Given the description of an element on the screen output the (x, y) to click on. 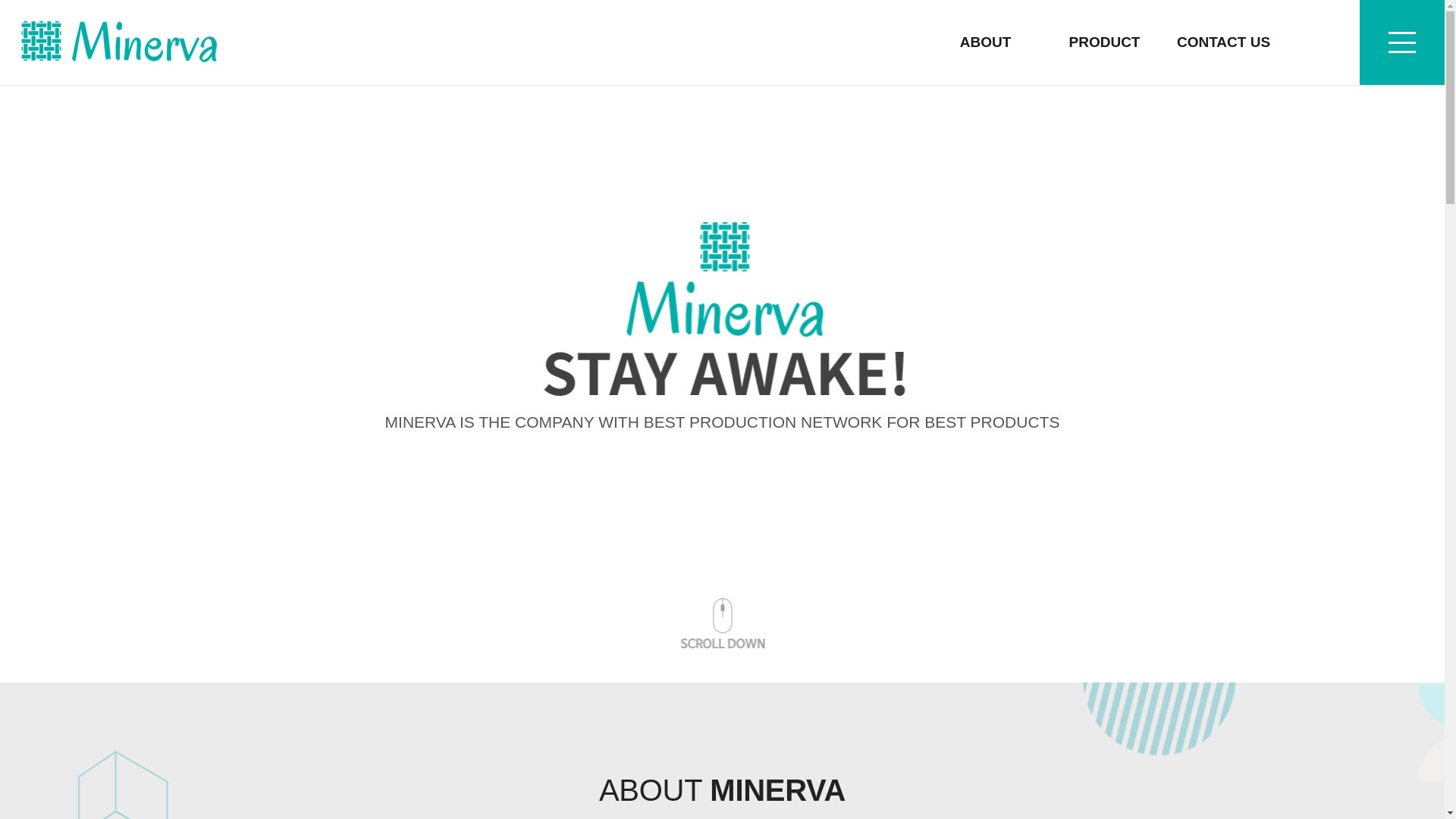
CONTACT US (1222, 42)
ABOUT (985, 42)
PRODUCT (1104, 42)
